Given the description of an element on the screen output the (x, y) to click on. 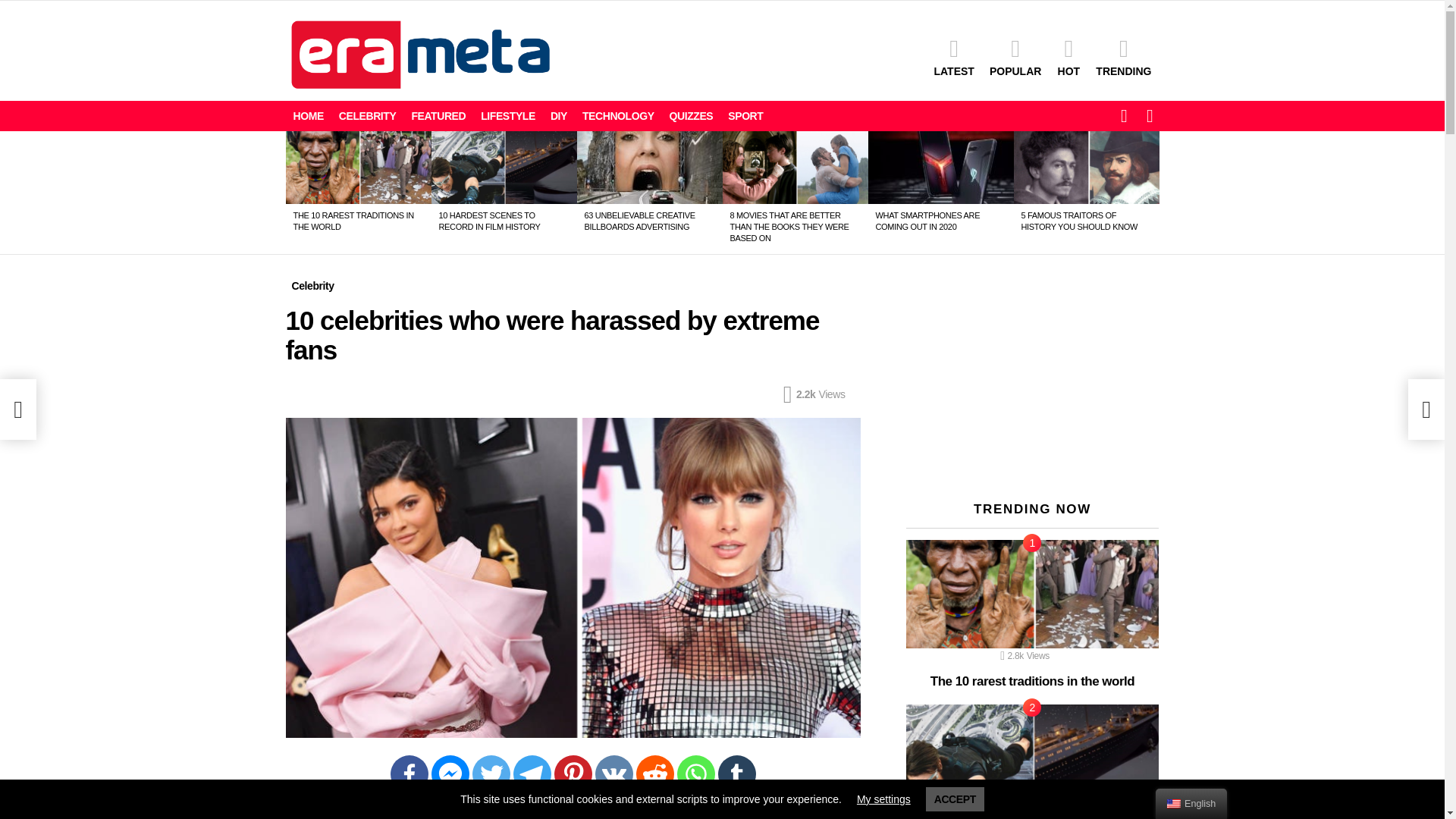
63 UNBELIEVABLE CREATIVE BILLBOARDS ADVERTISING (638, 220)
5 FAMOUS TRAITORS OF HISTORY YOU SHOULD KNOW (1078, 220)
Telegram (531, 774)
Facebook Messenger (449, 774)
What smartphones are coming out in 2020 (940, 167)
Reddit (653, 774)
My settings (884, 799)
TECHNOLOGY (618, 115)
8 MOVIES THAT ARE BETTER THAN THE BOOKS THEY WERE BASED ON (788, 226)
WHAT SMARTPHONES ARE COMING OUT IN 2020 (927, 220)
HOME (307, 115)
8 movies that are better than the books they were based on (794, 167)
Facebook (409, 774)
10 hardest scenes to record in film history (503, 167)
FEATURED (438, 115)
